Given the description of an element on the screen output the (x, y) to click on. 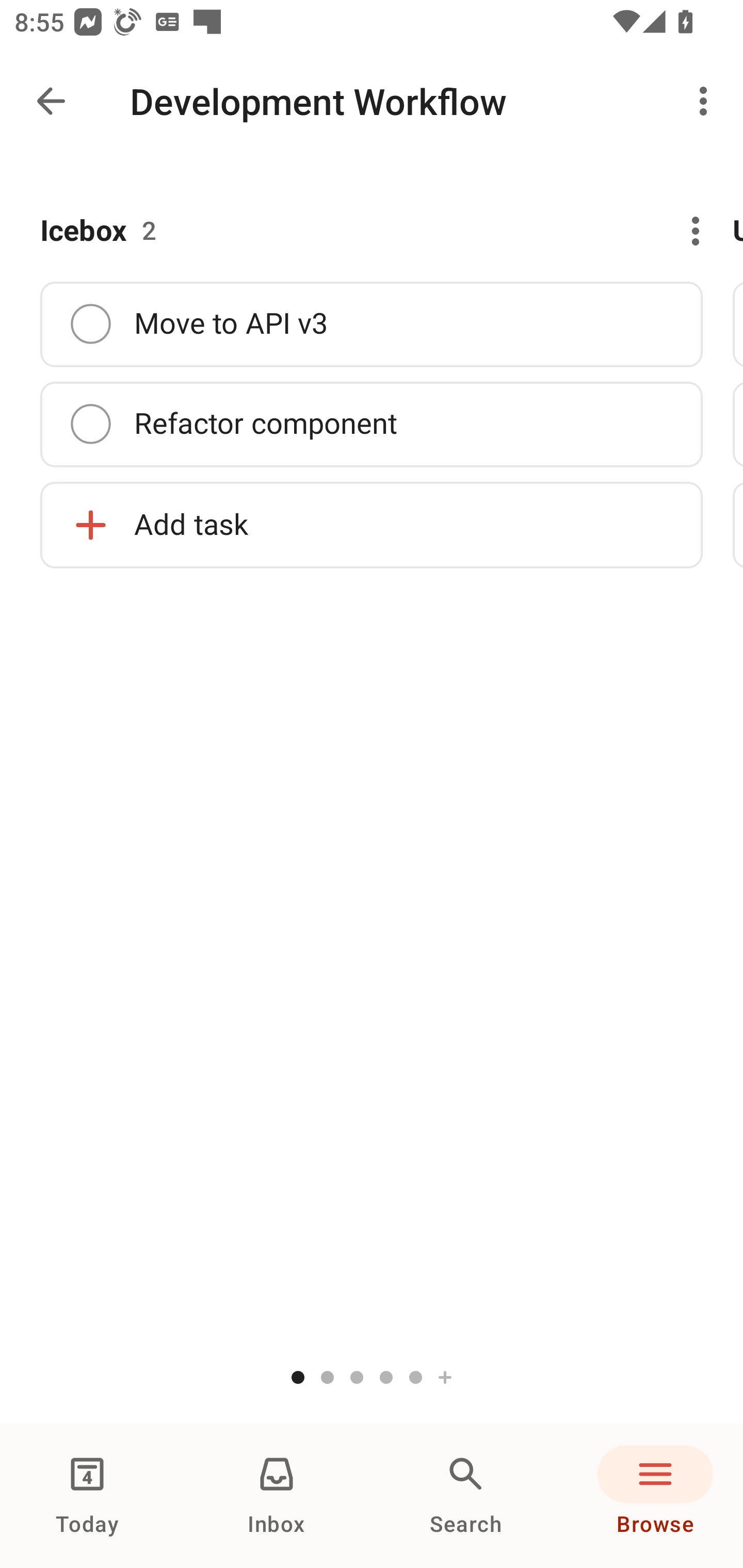
Navigate up Development Workflow More options (371, 100)
Navigate up (50, 101)
More options (706, 101)
Icebox (83, 231)
More options (685, 231)
Complete Move to API v3 (371, 324)
Complete (90, 323)
Complete Refactor component (371, 424)
Complete (90, 424)
Add Add task (371, 524)
Today (87, 1495)
Inbox (276, 1495)
Search (465, 1495)
